Given the description of an element on the screen output the (x, y) to click on. 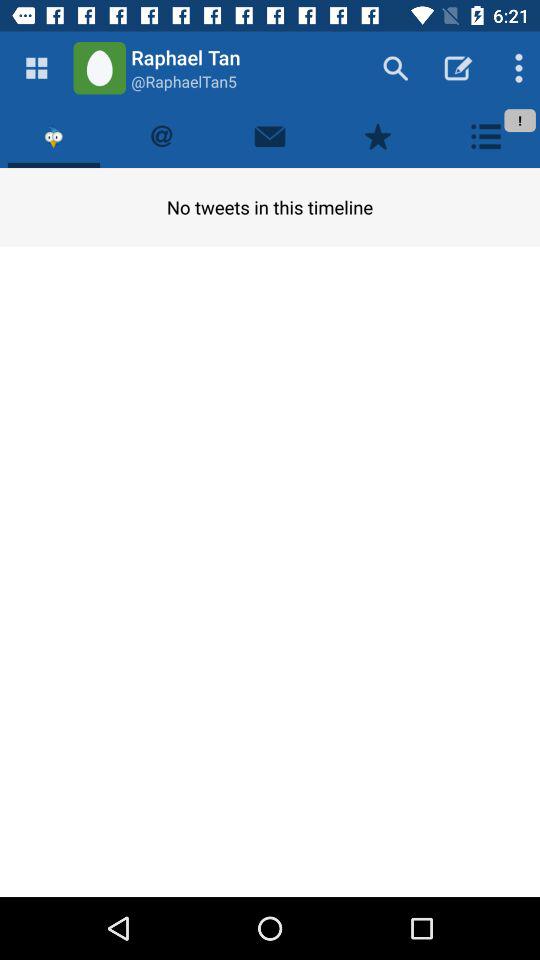
view tweets (54, 136)
